Given the description of an element on the screen output the (x, y) to click on. 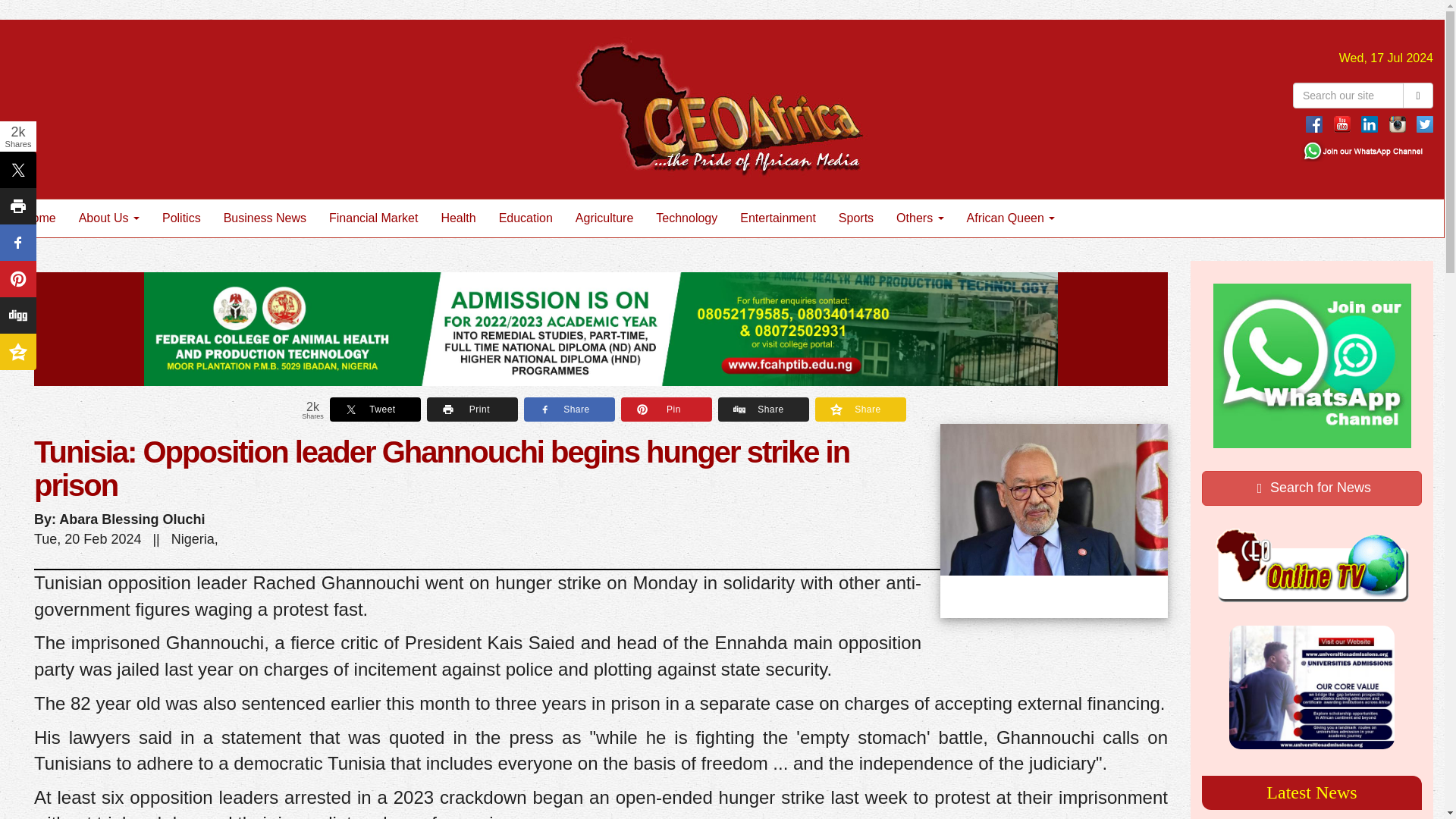
Technology (687, 218)
African Queen (1011, 218)
Education (525, 218)
Financial Market (373, 218)
Entertainment (778, 218)
Others (920, 218)
Sports (856, 218)
About Us (108, 218)
Business News (264, 218)
Health (457, 218)
Search for News (1312, 488)
Home (38, 218)
Agriculture (604, 218)
Politics (181, 218)
